Given the description of an element on the screen output the (x, y) to click on. 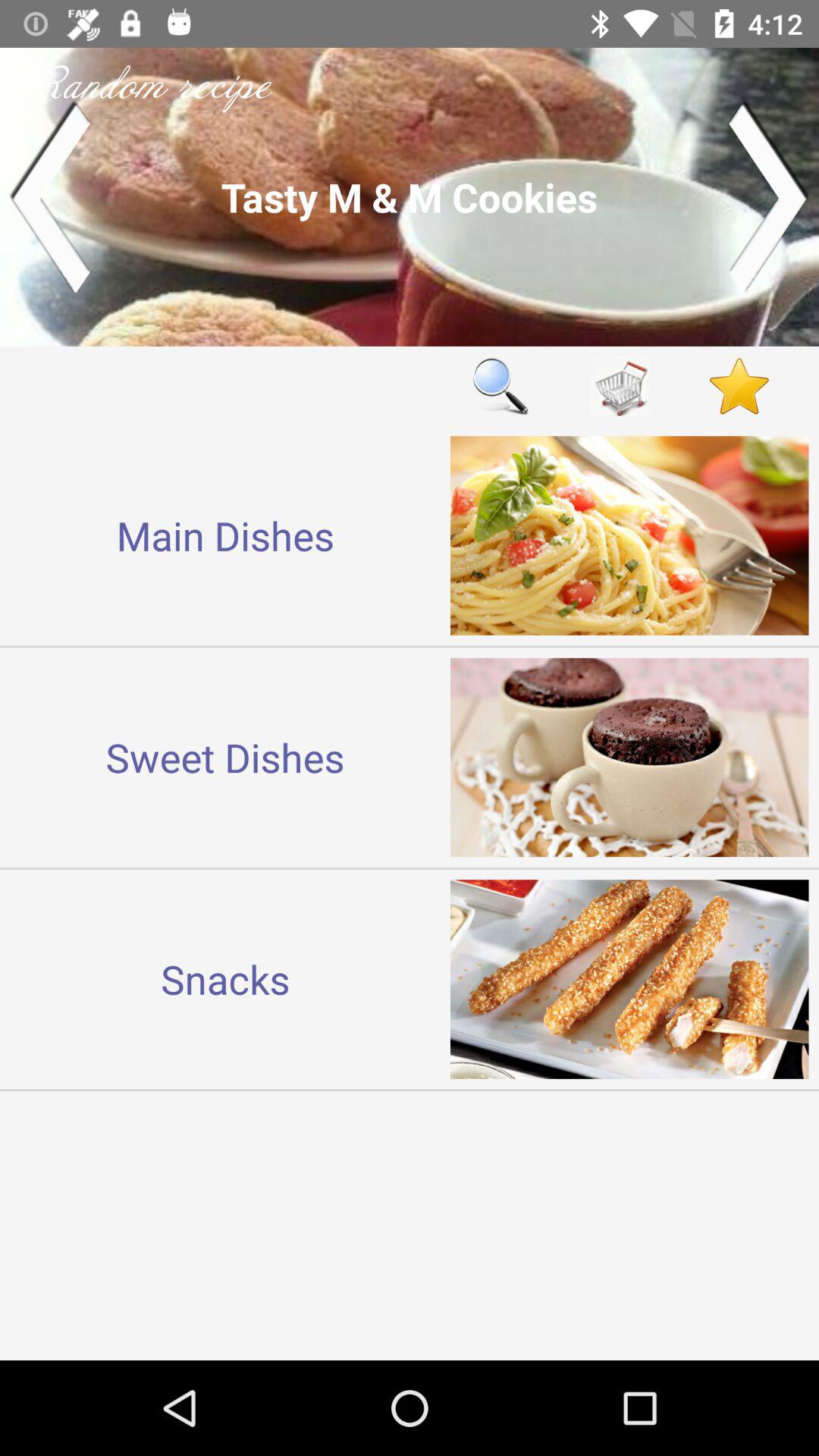
open the item below the sweet dishes (225, 978)
